Given the description of an element on the screen output the (x, y) to click on. 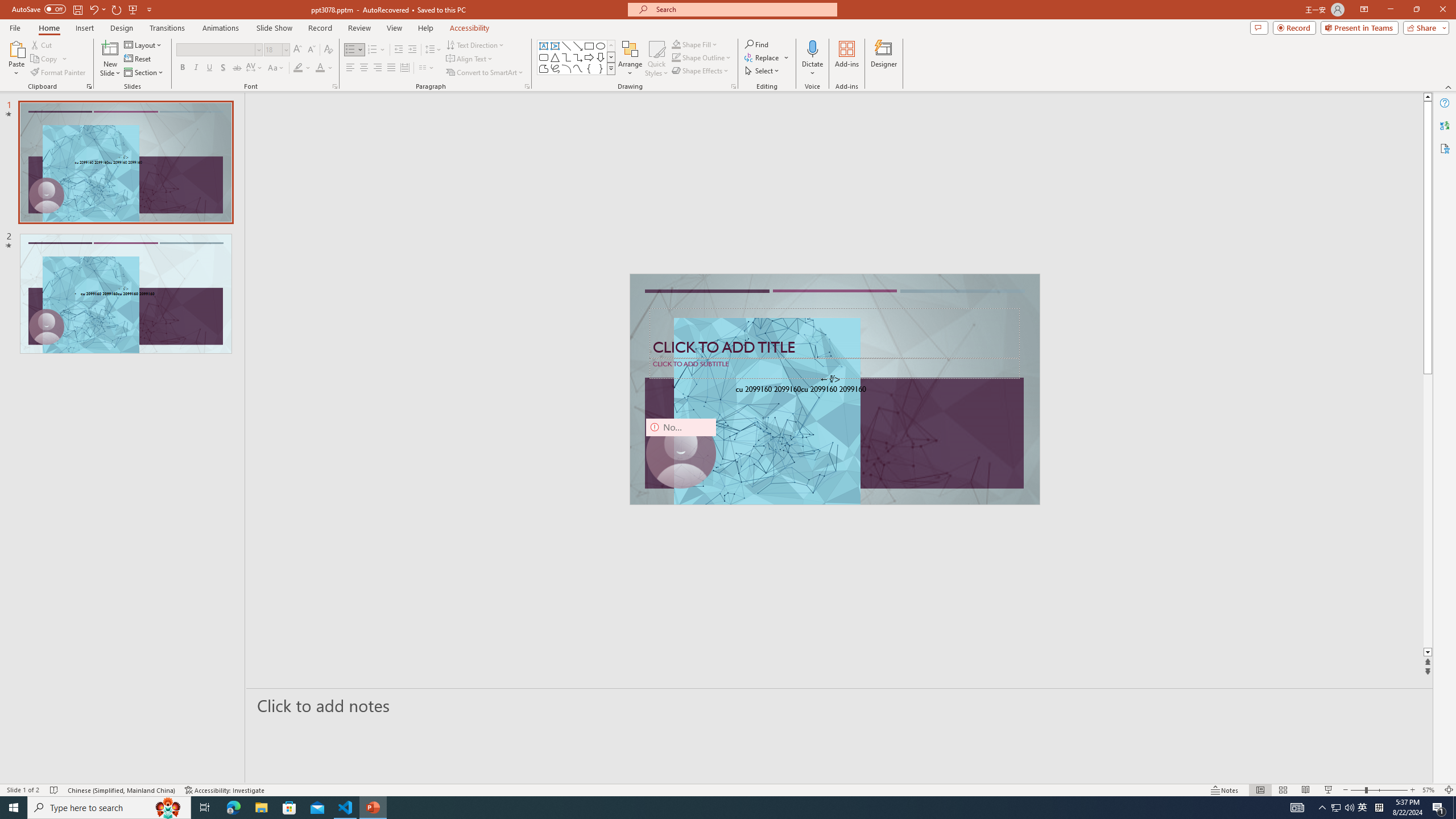
Freeform: Shape (543, 68)
Page down (1427, 511)
Shape Fill (694, 44)
Open (285, 49)
Font (219, 49)
Font Color (324, 67)
Camera 9, No camera detected. (681, 453)
Right Brace (600, 68)
Find... (756, 44)
